Given the description of an element on the screen output the (x, y) to click on. 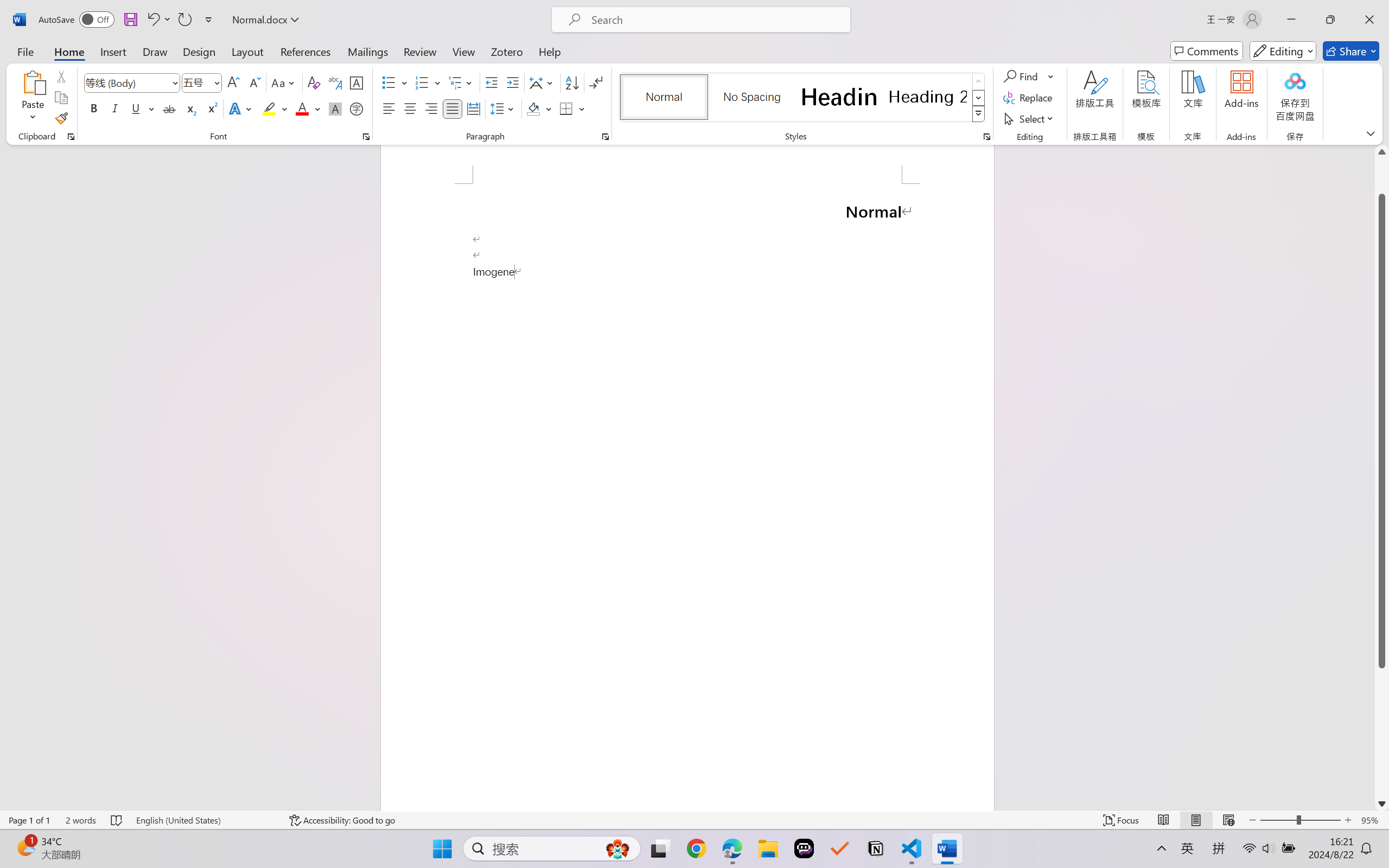
Font Color RGB(255, 0, 0) (302, 108)
Subscript (190, 108)
Select (1030, 118)
Line and Paragraph Spacing (503, 108)
Character Shading (334, 108)
Class: MsoCommandBar (694, 819)
Decrease Indent (491, 82)
Enclose Characters... (356, 108)
